Given the description of an element on the screen output the (x, y) to click on. 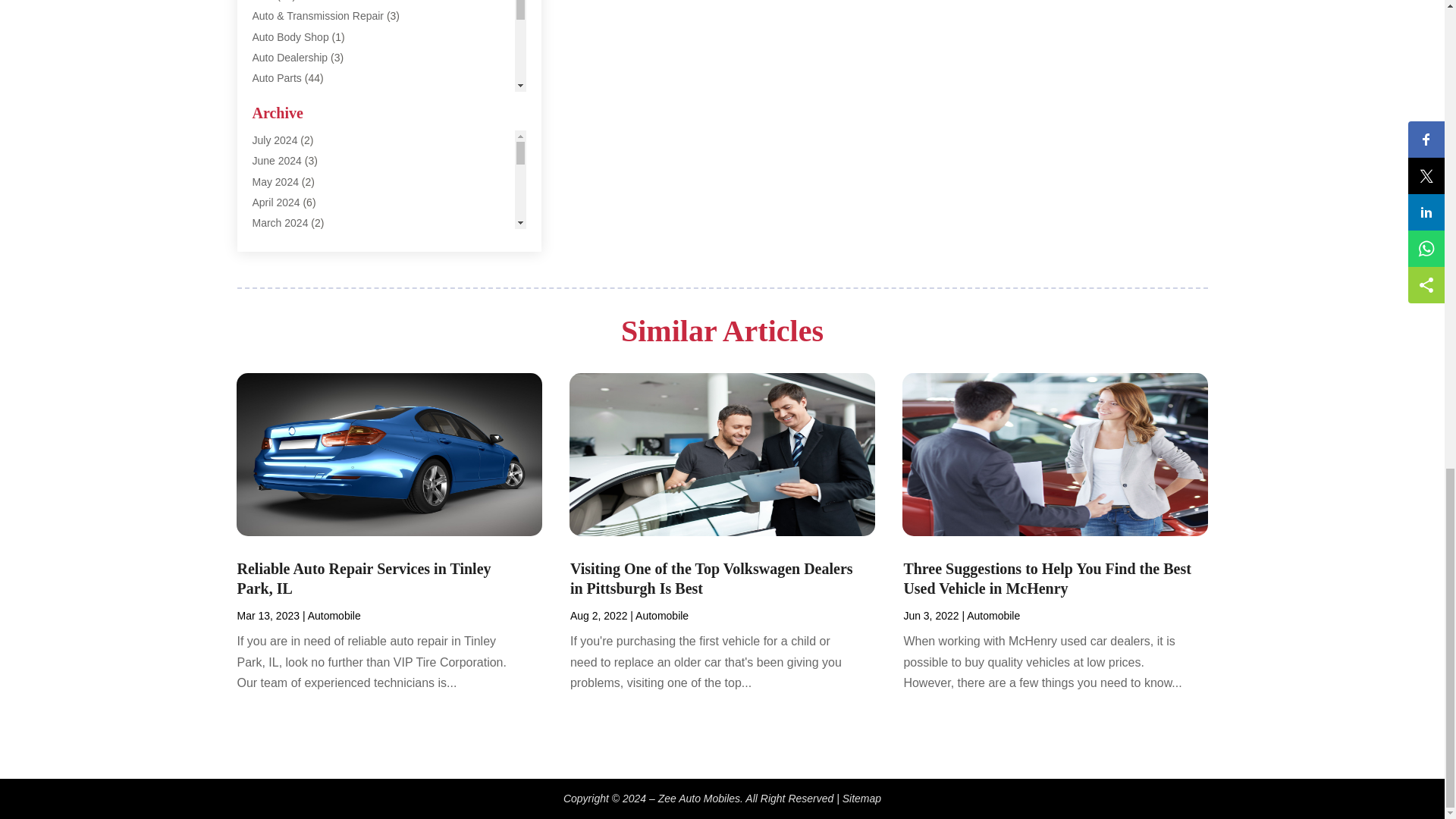
Automotive Industry (298, 222)
Car Dealer (276, 304)
Car Restoration Service (308, 408)
Business (273, 284)
Automotive (277, 201)
Automotive Repair Shop (308, 242)
Automobile Maintenance (309, 181)
Auto Repair Shop (293, 119)
Auto Repair (279, 98)
Automobile (277, 160)
Car Detailing Service (301, 345)
Auto Parts (276, 78)
Auto Dealership (289, 57)
Auto Body Shop (290, 37)
Auto Sales (276, 140)
